Given the description of an element on the screen output the (x, y) to click on. 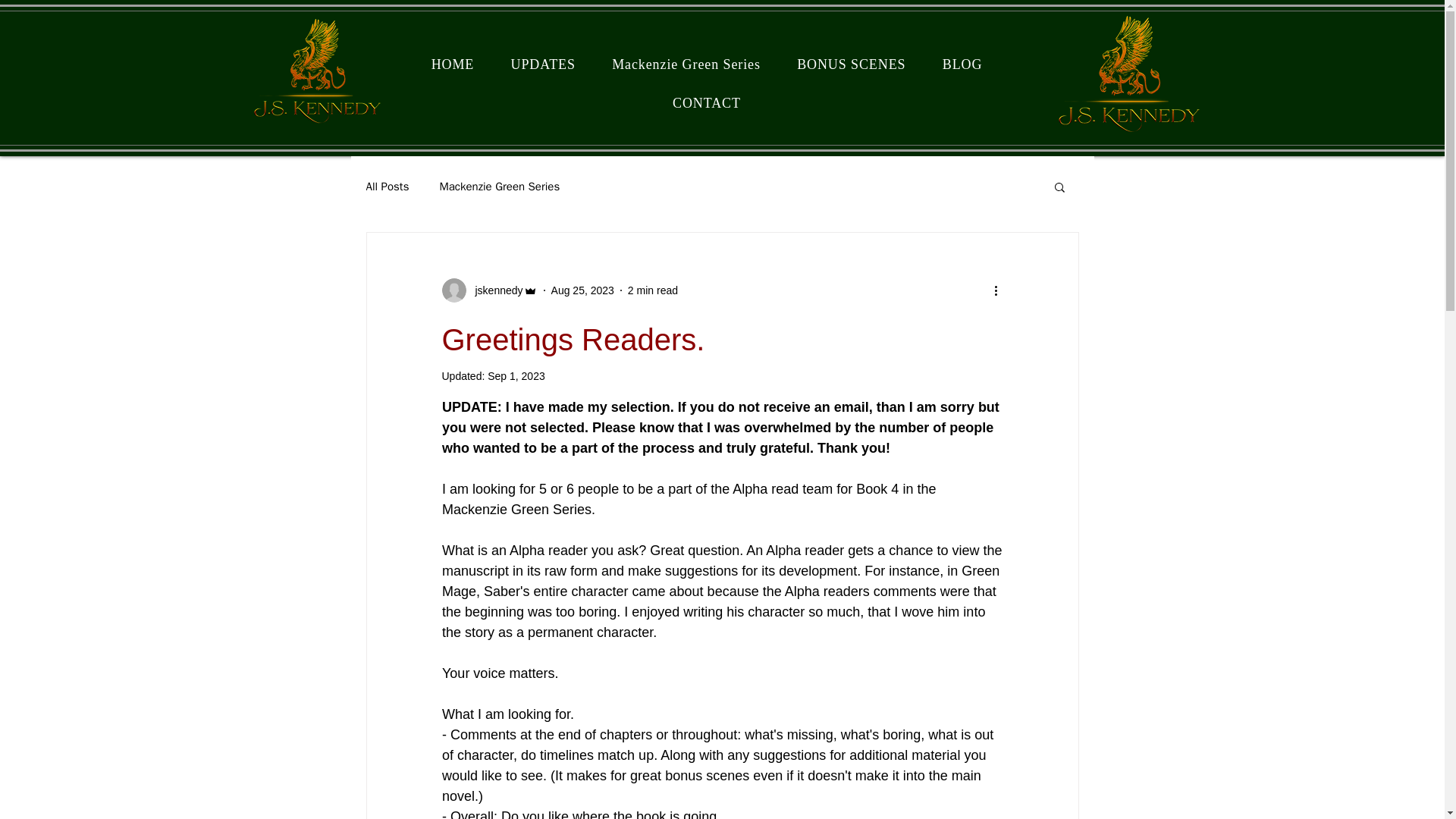
jskennedy (489, 290)
Mackenzie Green Series (686, 64)
BONUS SCENES (851, 64)
BLOG (962, 64)
Aug 25, 2023 (582, 289)
2 min read (652, 289)
HOME (451, 64)
Sep 1, 2023 (515, 376)
CONTACT (705, 102)
Mackenzie Green Series (499, 186)
